Given the description of an element on the screen output the (x, y) to click on. 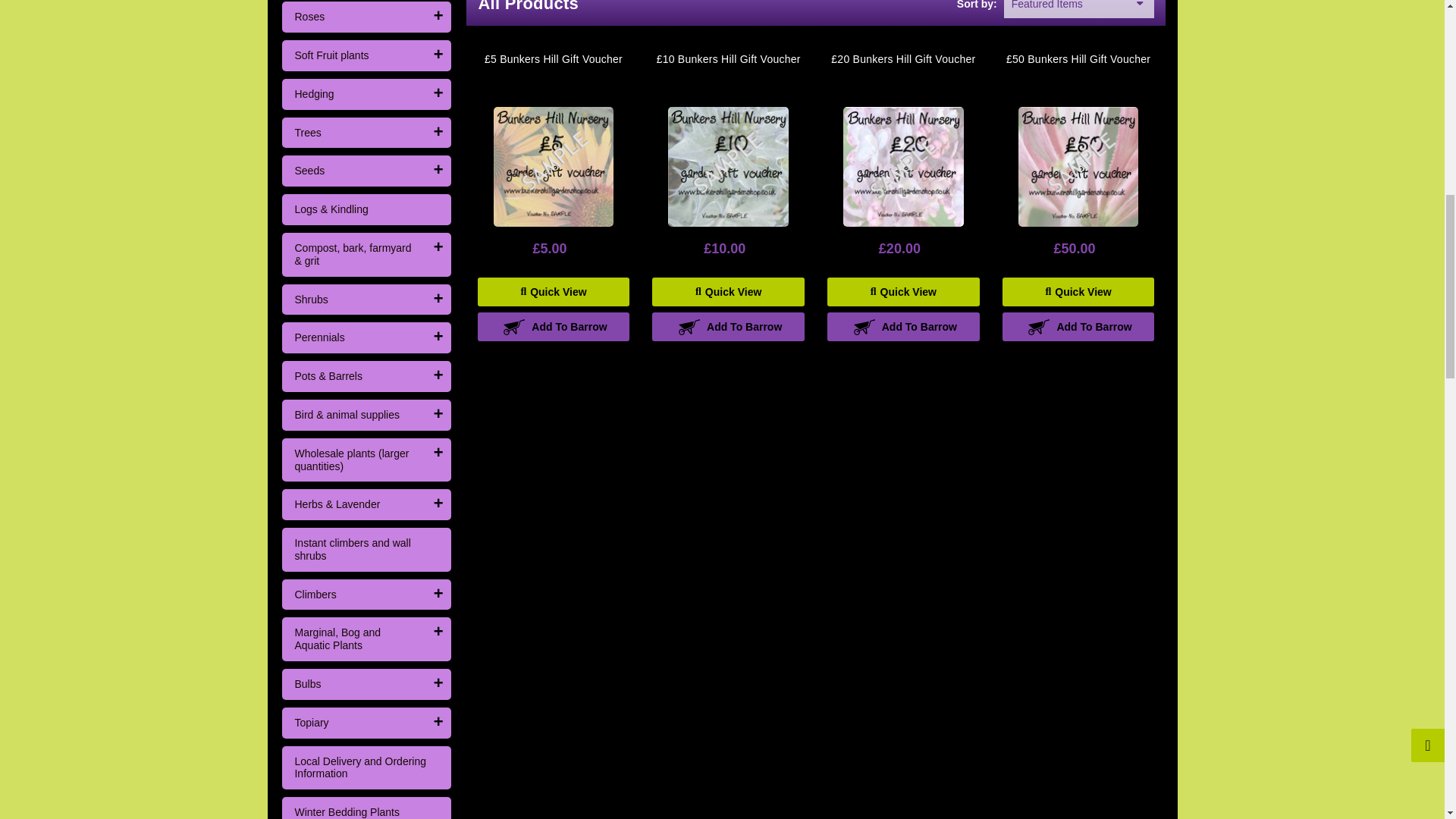
Roses (353, 16)
